Given the description of an element on the screen output the (x, y) to click on. 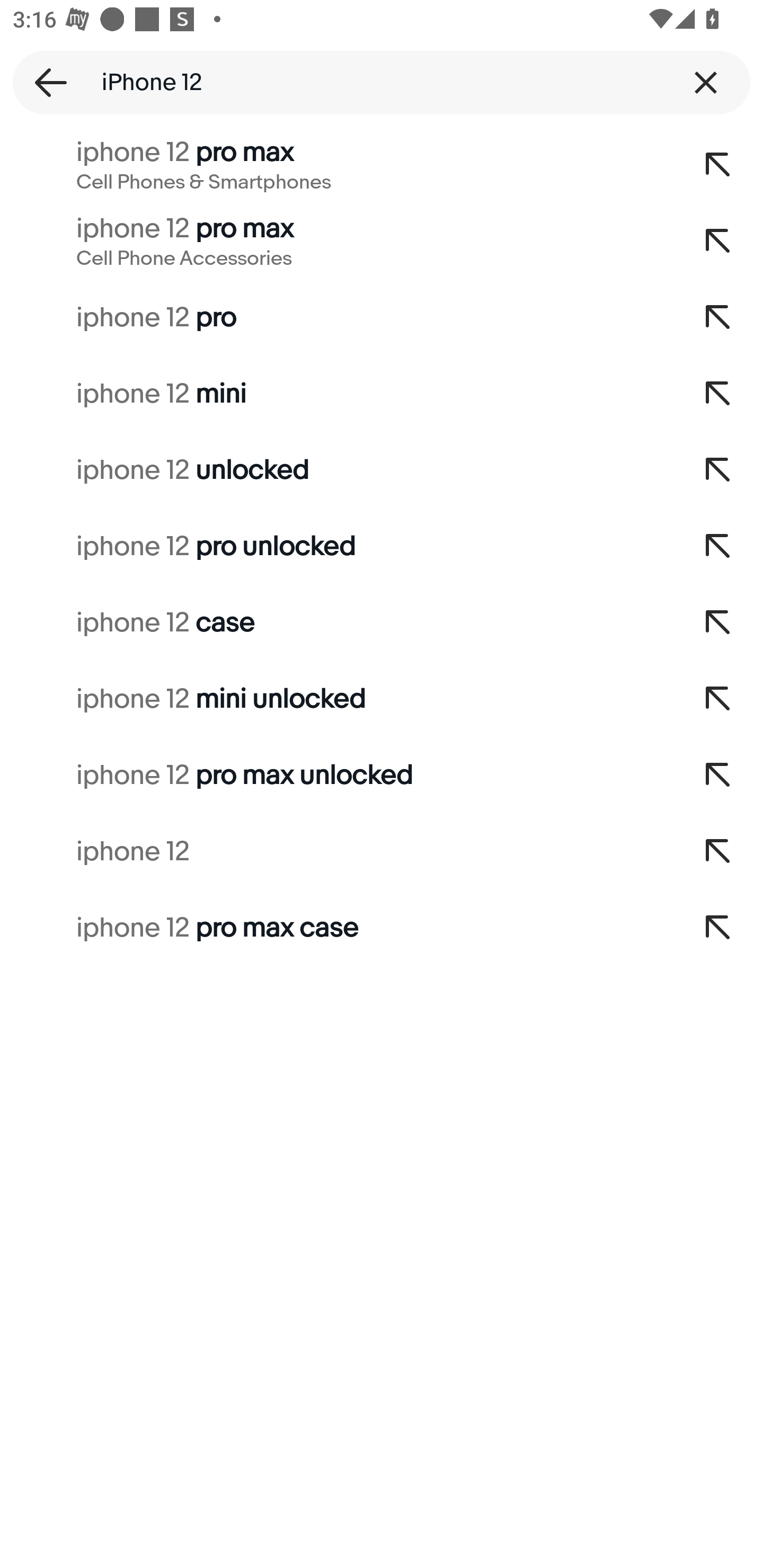
Back (44, 82)
Clear query (705, 82)
iPhone 12 (381, 82)
iphone 12 pro max
Cell Phones & Smartphones (336, 165)
iphone 12 pro max
Cell Phone Accessories (336, 241)
iphone 12 pro (336, 317)
Add to search query,iphone 12 pro (718, 317)
iphone 12 mini (336, 393)
Add to search query,iphone 12 mini (718, 393)
iphone 12 unlocked (336, 470)
Add to search query,iphone 12 unlocked (718, 470)
iphone 12 pro unlocked (336, 546)
Add to search query,iphone 12 pro unlocked (718, 546)
iphone 12 case (336, 622)
Add to search query,iphone 12 case (718, 622)
iphone 12 mini unlocked (336, 698)
Add to search query,iphone 12 mini unlocked (718, 698)
iphone 12 pro max unlocked (336, 774)
Add to search query,iphone 12 pro max unlocked (718, 774)
iphone 12 (336, 851)
Add to search query,iphone 12 (718, 851)
iphone 12 pro max case (336, 927)
Add to search query,iphone 12 pro max case (718, 927)
